Given the description of an element on the screen output the (x, y) to click on. 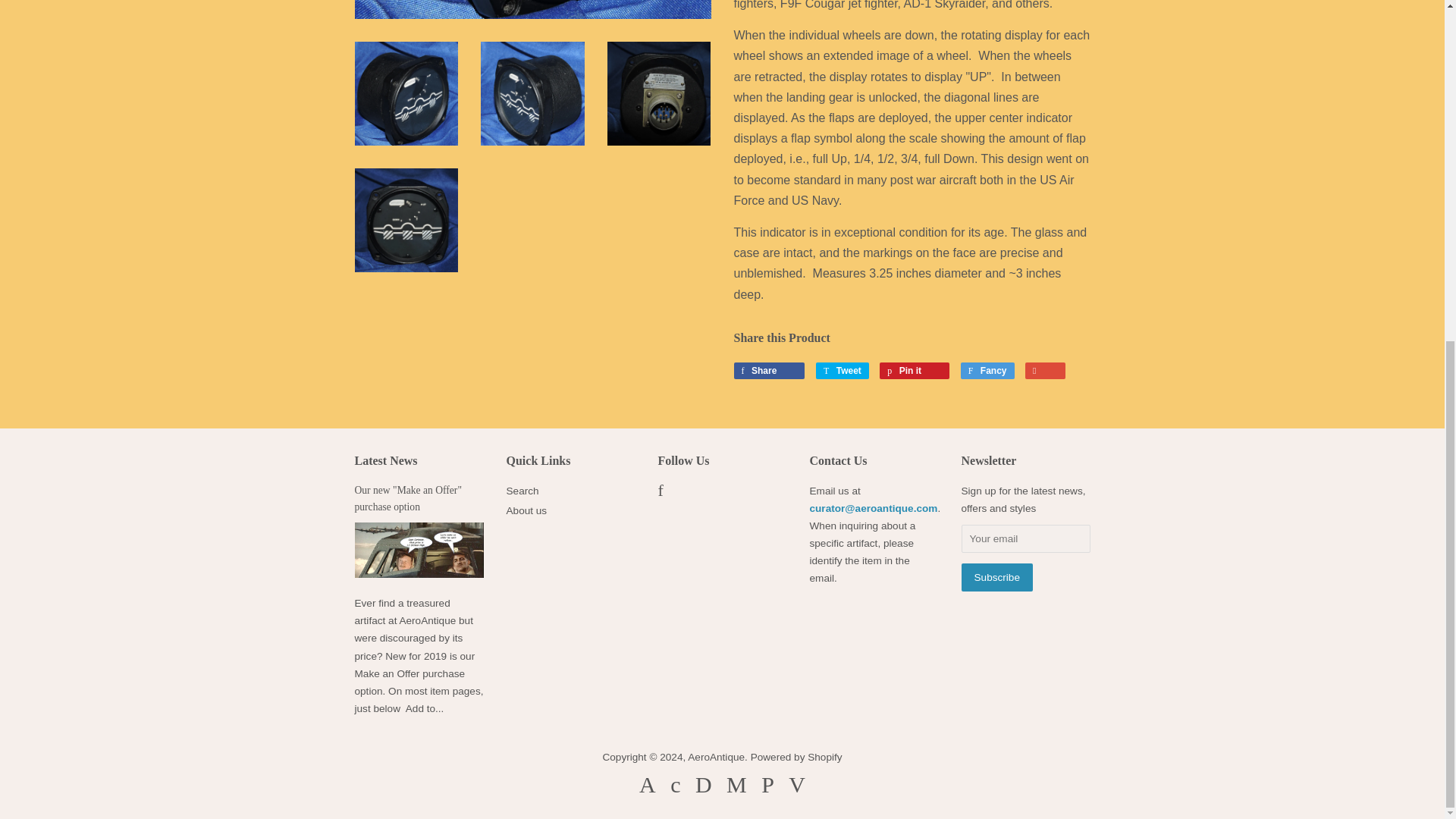
Subscribe (996, 577)
